Given the description of an element on the screen output the (x, y) to click on. 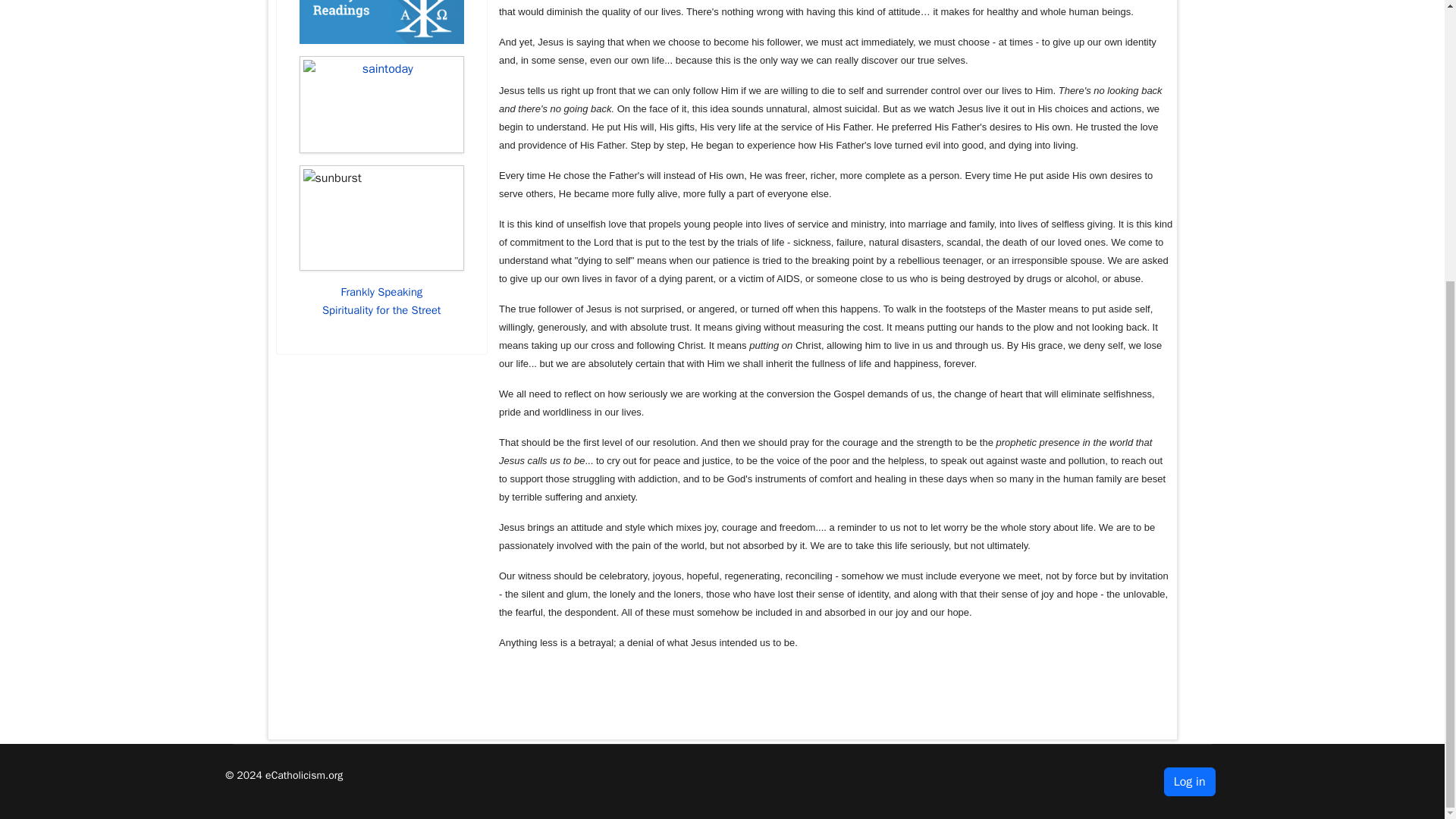
Log in (1189, 781)
Frankly Speaking (381, 291)
Spirituality for the Street (381, 309)
